Given the description of an element on the screen output the (x, y) to click on. 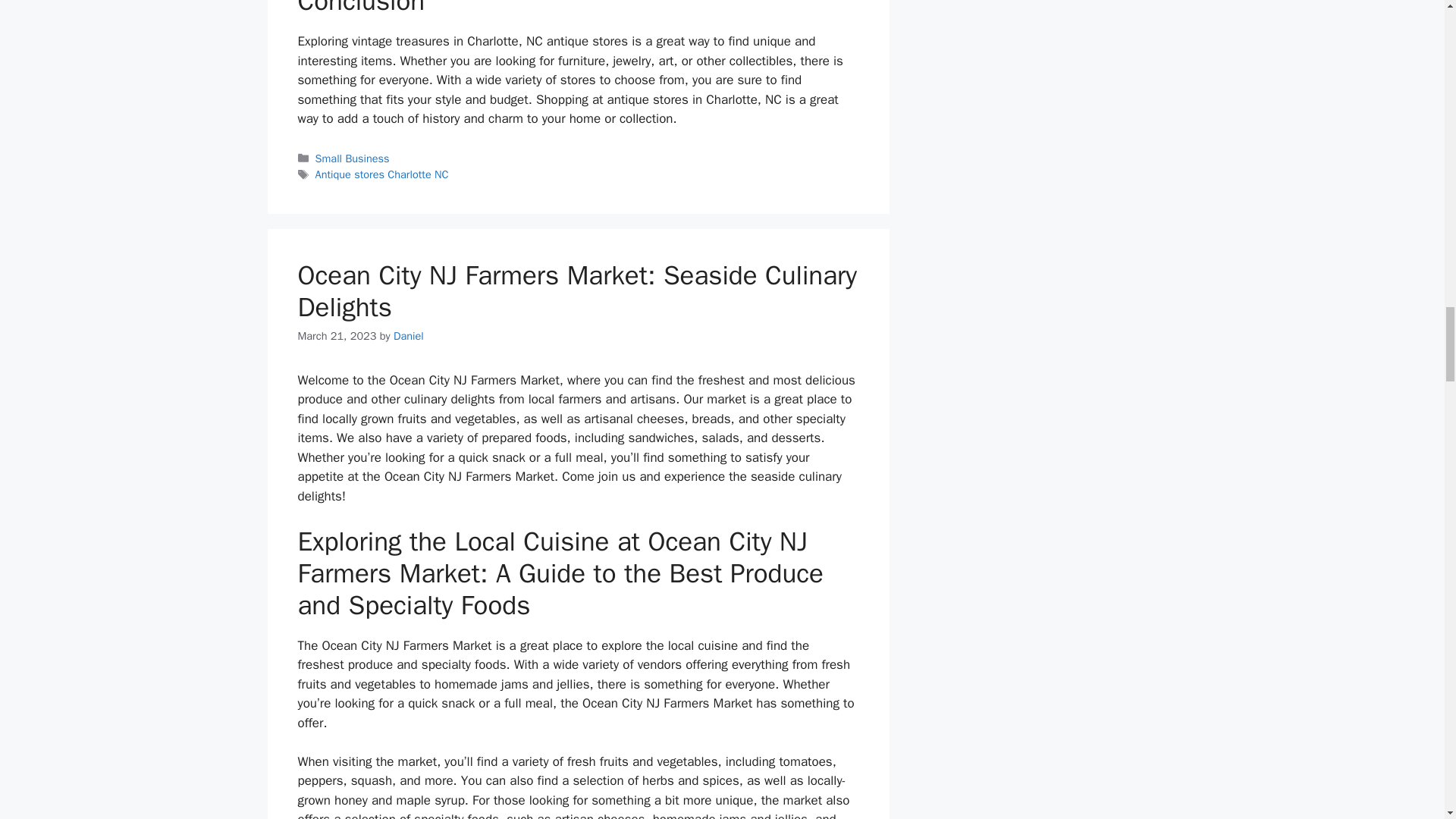
Daniel (408, 336)
View all posts by Daniel (408, 336)
Antique stores Charlotte NC (381, 173)
Ocean City NJ Farmers Market: Seaside Culinary Delights (576, 290)
Small Business (352, 158)
